Given the description of an element on the screen output the (x, y) to click on. 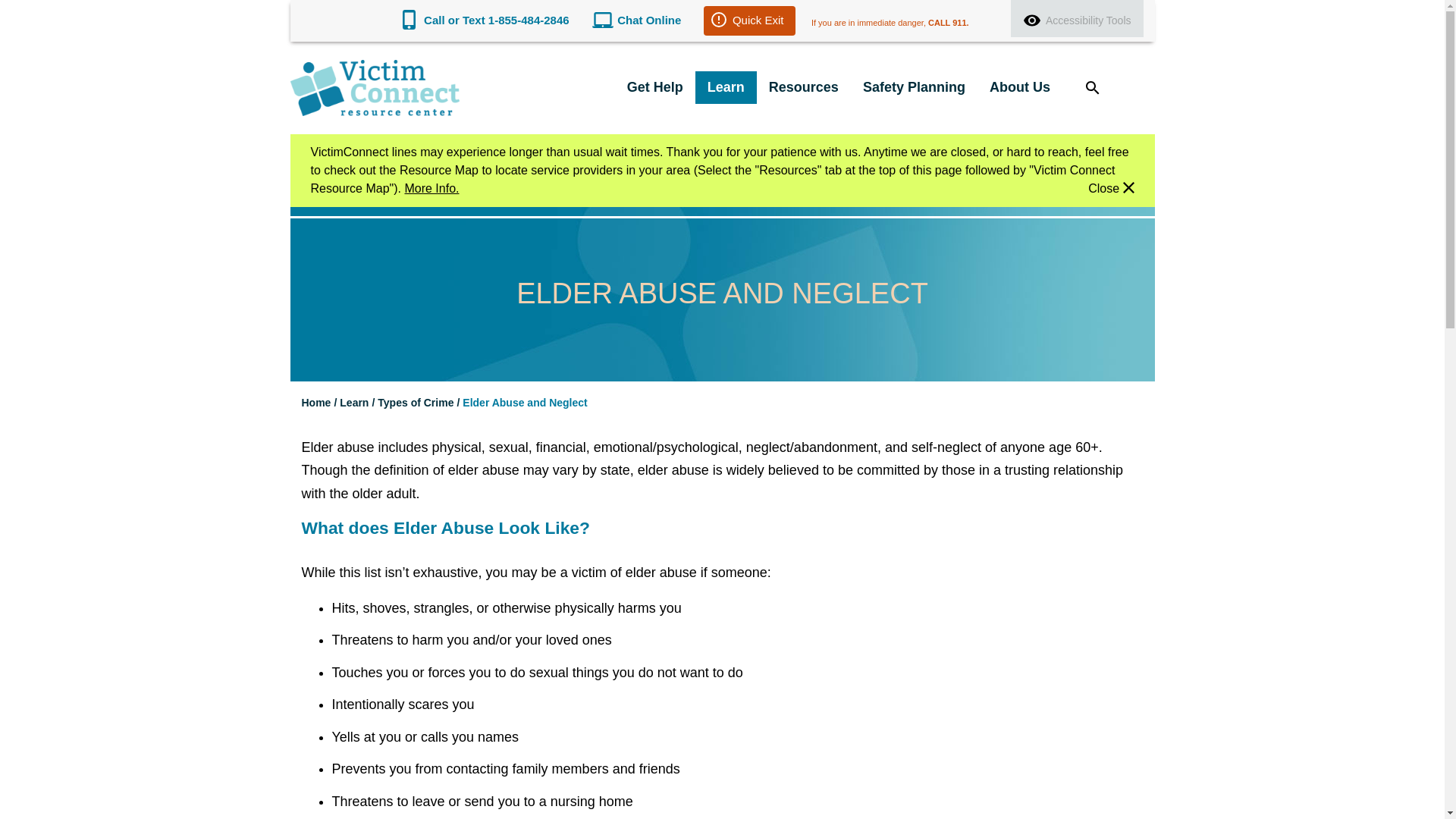
Safety Planning (913, 87)
Quick Exit (748, 20)
Get Help (655, 87)
Learn (726, 87)
Call or Text 1-855-484-2846 (496, 19)
Learn (726, 87)
Chat Online (649, 19)
Get Help (655, 87)
Accessibility Tools (1076, 18)
Resources (803, 87)
About Us (1019, 87)
